Given the description of an element on the screen output the (x, y) to click on. 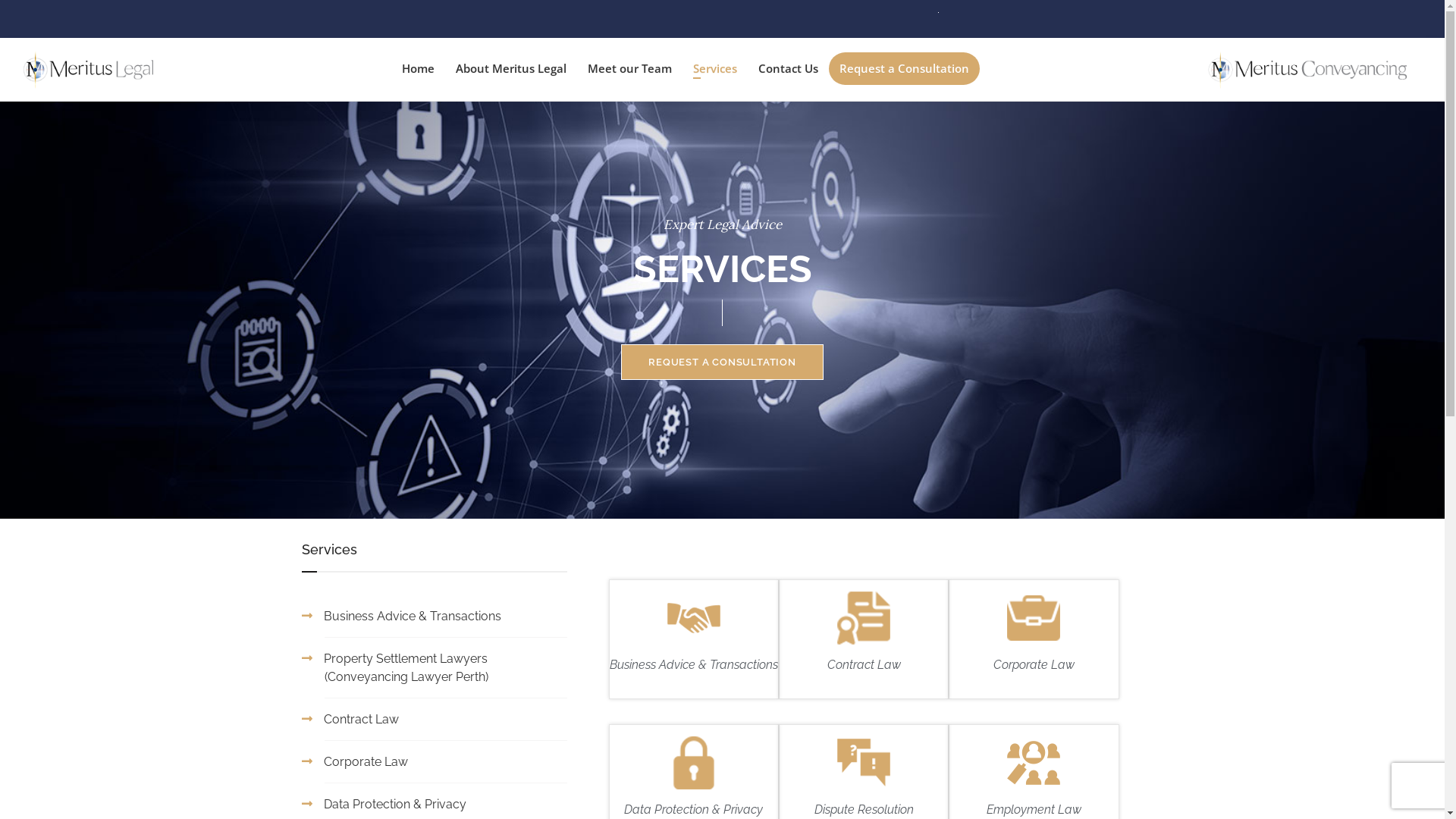
Request a Consultation Element type: text (903, 68)
Property Settlement Lawyers (Conveyancing Lawyer Perth) Element type: text (405, 667)
Business Advice & Transactions Element type: text (693, 664)
Contact Us Element type: text (787, 68)
Data Protection & Privacy Element type: text (394, 804)
Meet our Team Element type: text (629, 68)
Home Element type: text (418, 68)
Corporate Law Element type: text (365, 761)
Employment Law Element type: text (1033, 809)
Services Element type: text (714, 69)
REQUEST A CONSULTATION Element type: text (722, 361)
About Meritus Legal Element type: text (511, 68)
Corporate Law Element type: text (1033, 664)
Contract Law Element type: text (863, 664)
Dispute Resolution Element type: text (863, 809)
Business Advice & Transactions Element type: text (411, 615)
Contract Law Element type: text (360, 719)
Data Protection & Privacy Element type: text (693, 809)
